Given the description of an element on the screen output the (x, y) to click on. 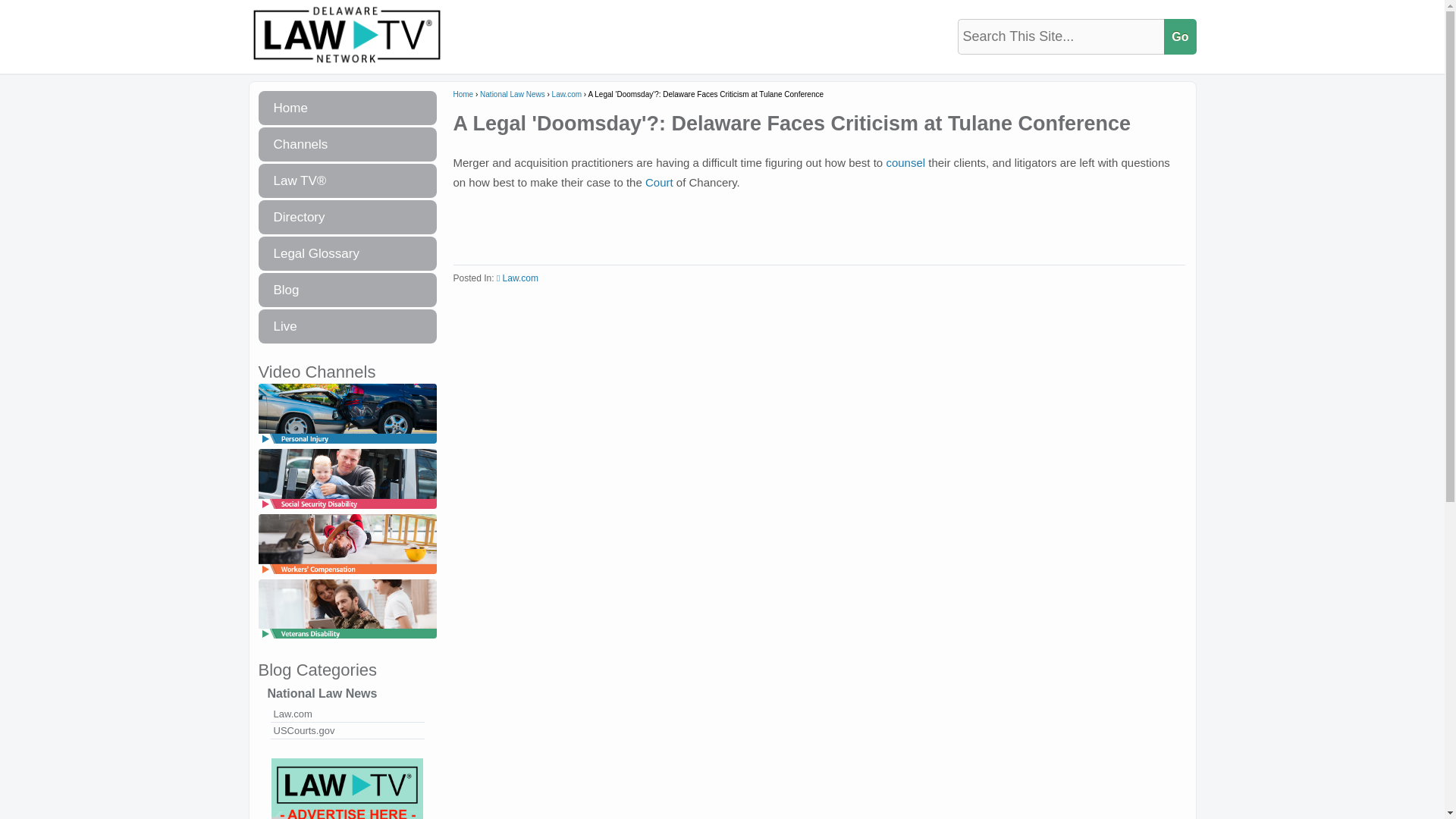
Home (346, 107)
Go (1179, 36)
Personal Injury (346, 444)
Go (1179, 36)
National Law News (346, 693)
USCourts.gov (346, 730)
Live (346, 326)
Channels (346, 144)
Legal Glossary (346, 253)
Veterans Disability (346, 639)
Law.com (346, 713)
Blog (346, 289)
Social Security Disability (346, 510)
